Given the description of an element on the screen output the (x, y) to click on. 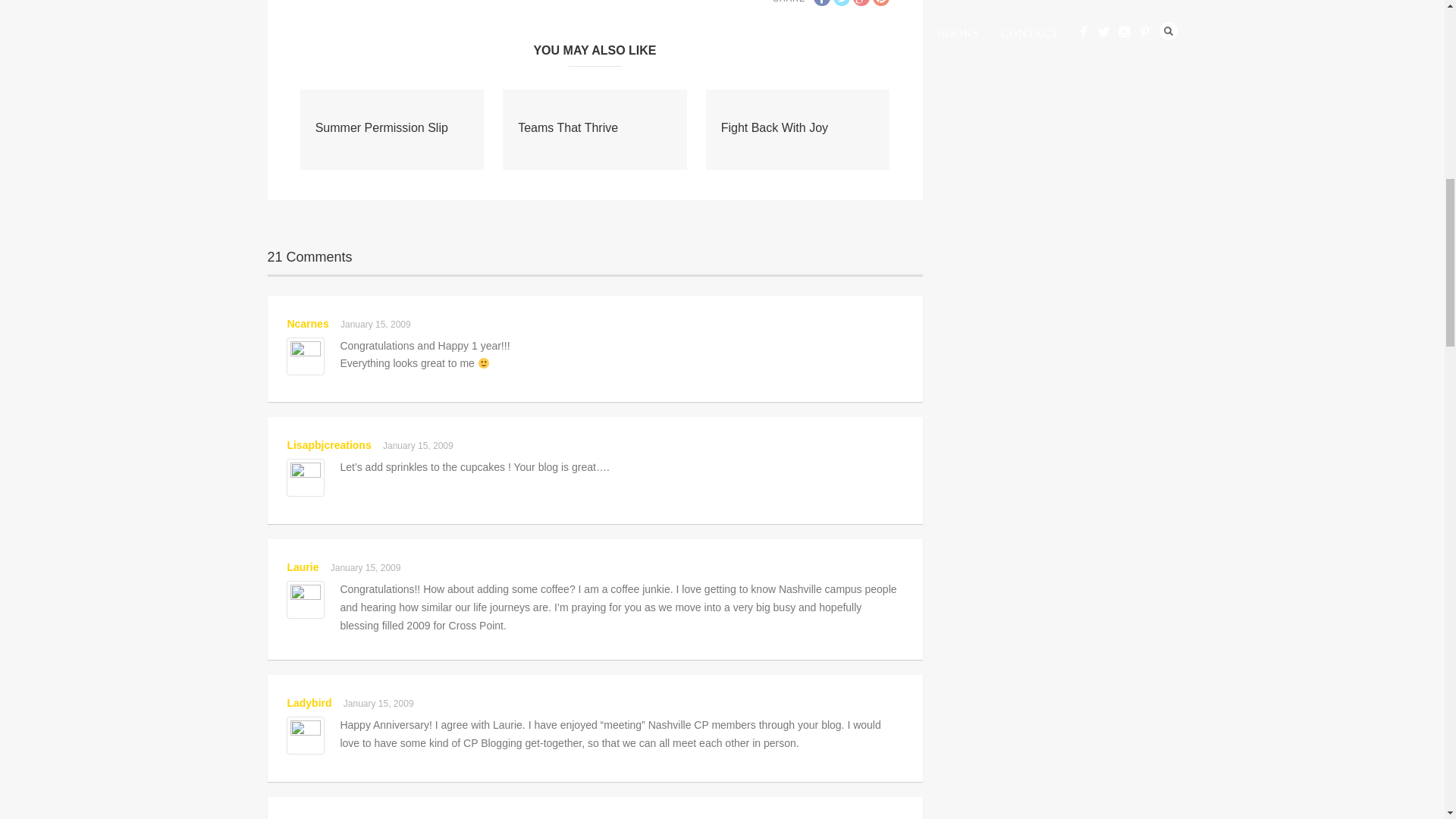
Twitter (841, 2)
Summer Permission Slip (381, 127)
Fight Back With Joy (774, 127)
Pinterest (880, 2)
Teams That Thrive (567, 127)
Ladybird (308, 702)
Facebook (821, 2)
Ncarnes (307, 323)
